Given the description of an element on the screen output the (x, y) to click on. 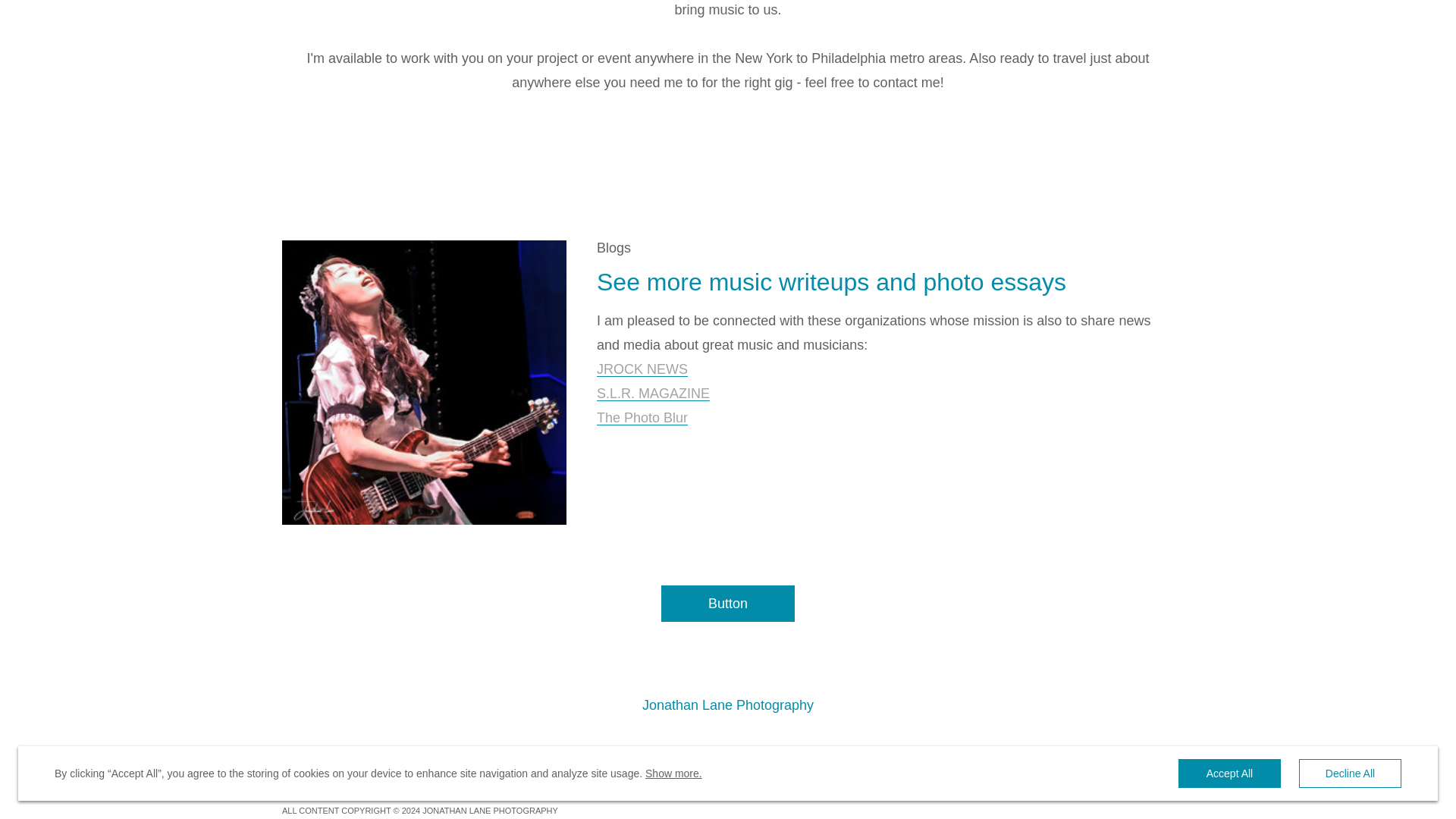
The Photo Blur (641, 418)
BLOG (434, 763)
CONTACT (561, 763)
Button (727, 603)
PORTFOLIO (365, 763)
HOME (295, 763)
ABOUT (492, 763)
Jonathan Lane Photography (727, 705)
JROCK NEWS (641, 369)
S.L.R. MAGAZINE (653, 393)
